Given the description of an element on the screen output the (x, y) to click on. 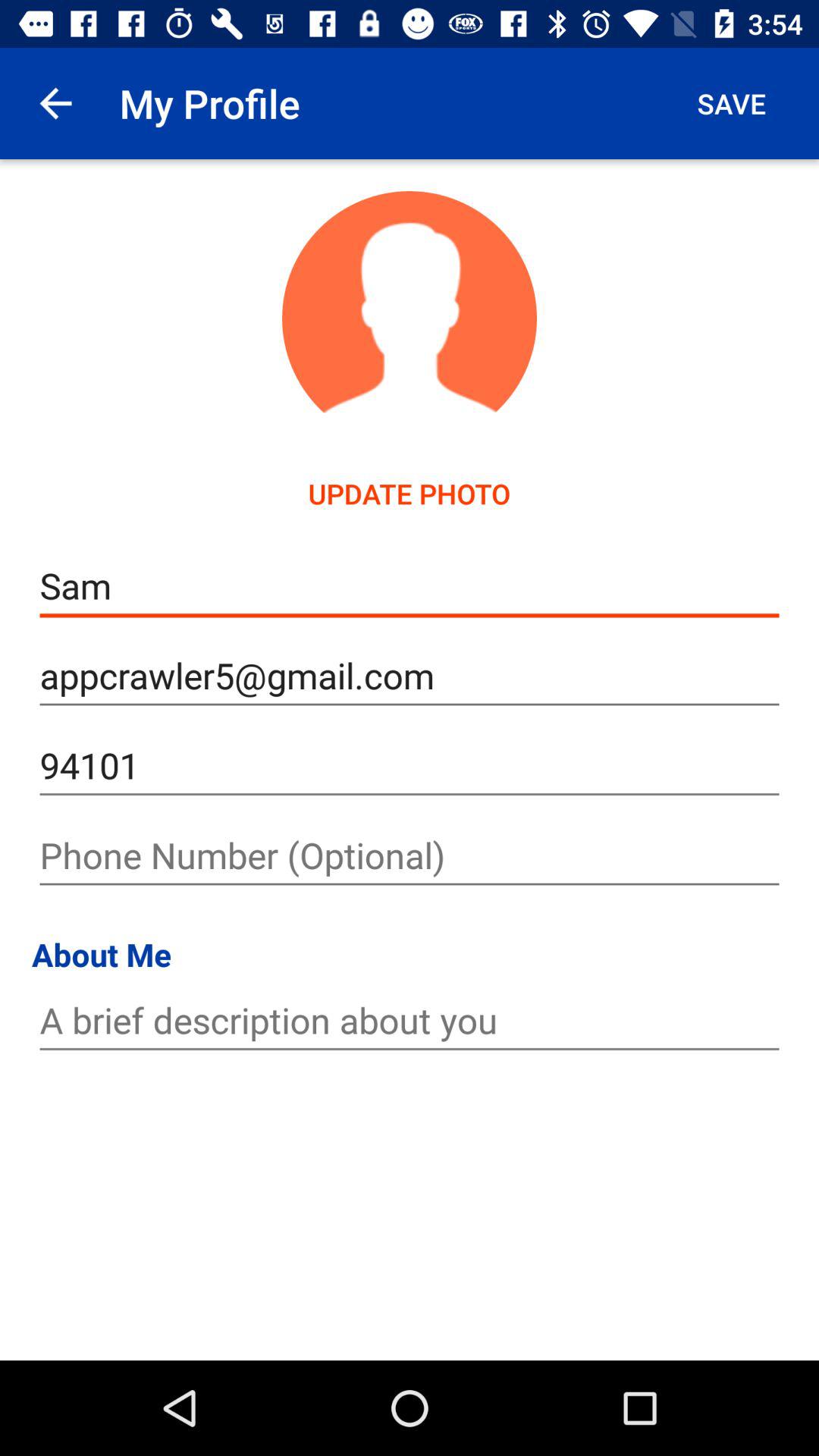
choose icon at the top right corner (731, 103)
